Given the description of an element on the screen output the (x, y) to click on. 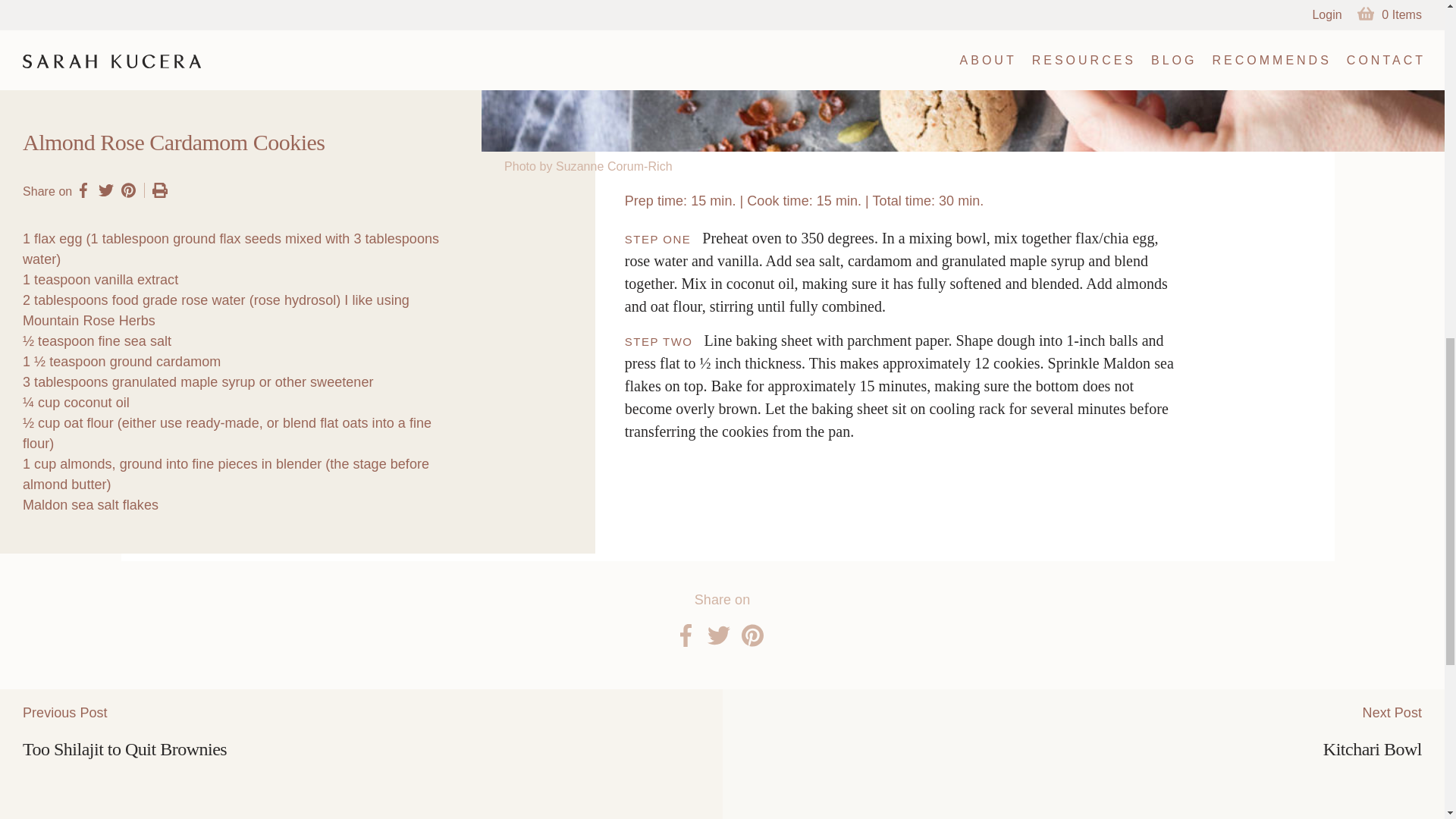
Share this post on Twitter (717, 635)
Previous Post: Too Shilajit to Quit Brownies (361, 754)
Share this recipe on Facebook (82, 190)
Share this recipe on Twitter (106, 190)
Save this recipe on Pinterest (128, 190)
Print this recipe (155, 190)
Save this post on Pinterest (752, 635)
